Given the description of an element on the screen output the (x, y) to click on. 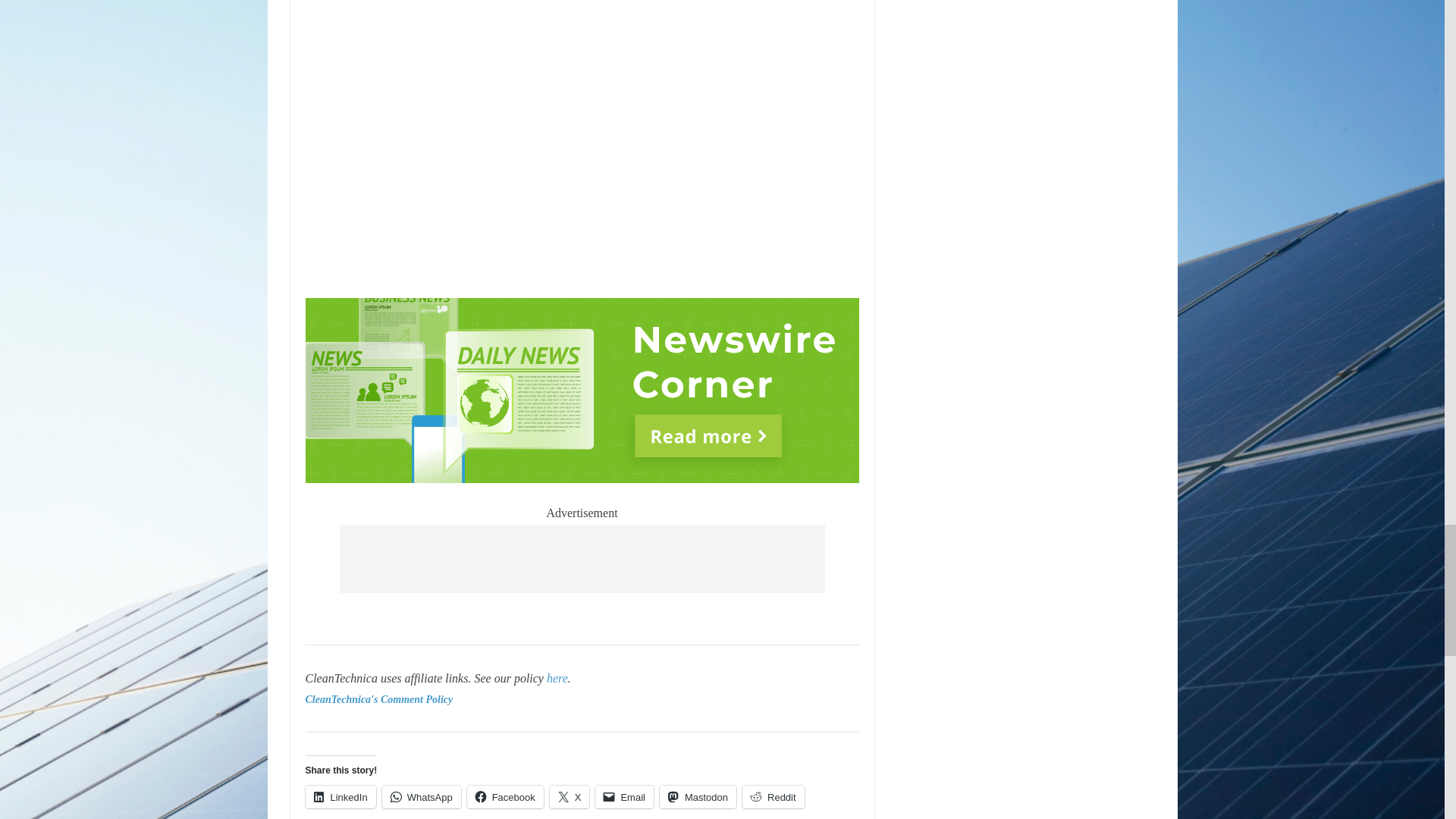
Click to share on X (569, 796)
Click to share on Mastodon (697, 796)
Click to share on Reddit (773, 796)
Click to email a link to a friend (624, 796)
Click to share on Facebook (505, 796)
Click to share on LinkedIn (339, 796)
Click to share on WhatsApp (421, 796)
